Given the description of an element on the screen output the (x, y) to click on. 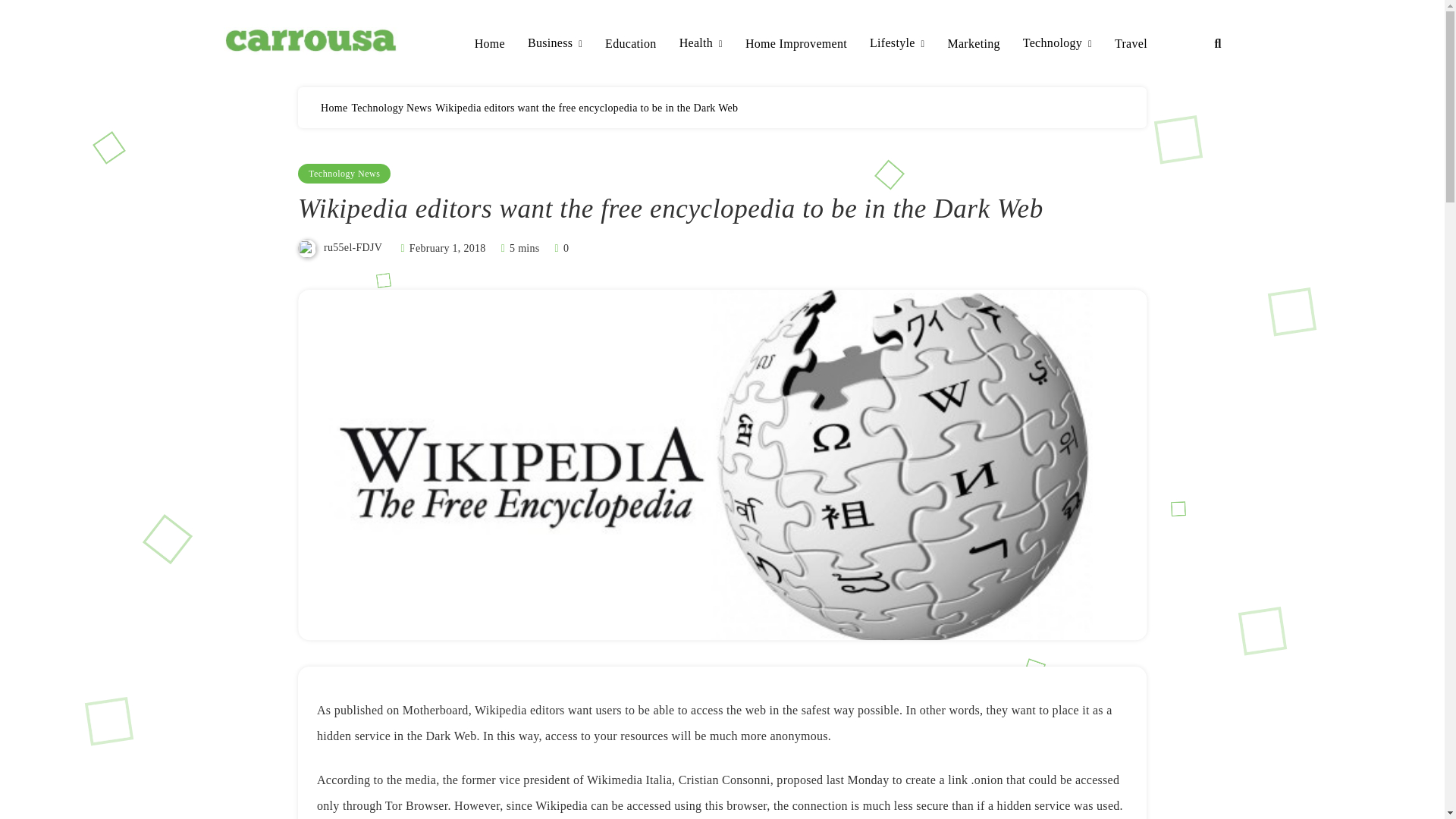
Marketing (972, 44)
Technology News (344, 173)
Business (554, 43)
February 1, 2018 (447, 247)
Health (700, 43)
0 (560, 247)
Travel (1131, 44)
Technology (1057, 43)
Lifestyle (896, 43)
Home (333, 107)
Home Improvement (796, 44)
Home (489, 44)
ru55el-FDJV (352, 247)
Education (630, 44)
CARROUSSA (307, 76)
